Given the description of an element on the screen output the (x, y) to click on. 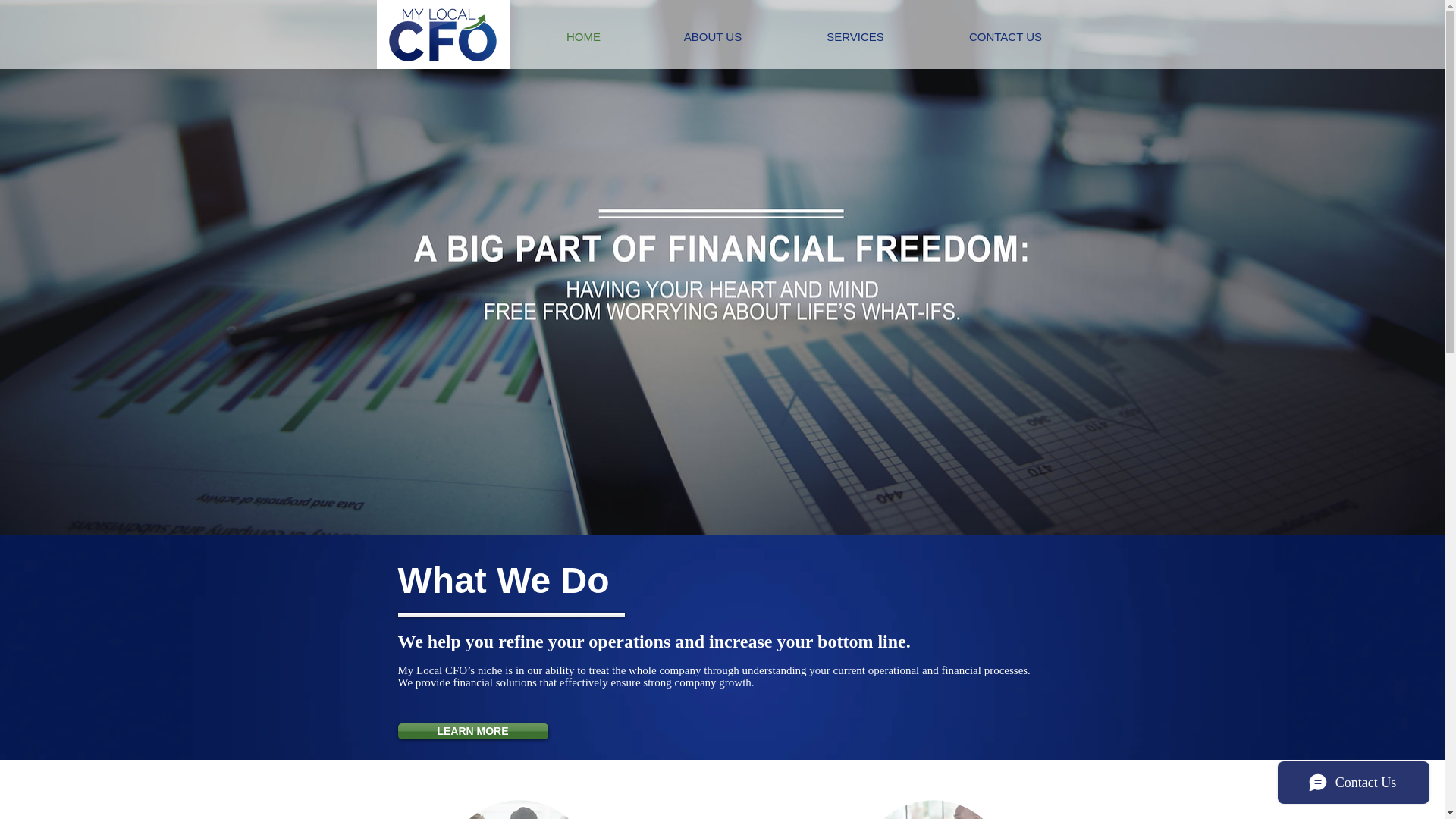
SERVICES (854, 36)
HOME (582, 36)
home circle 3.png (933, 809)
ABOUT US (712, 36)
home circle 1.png (518, 809)
CONTACT US (1004, 36)
LEARN MORE (472, 731)
